Given the description of an element on the screen output the (x, y) to click on. 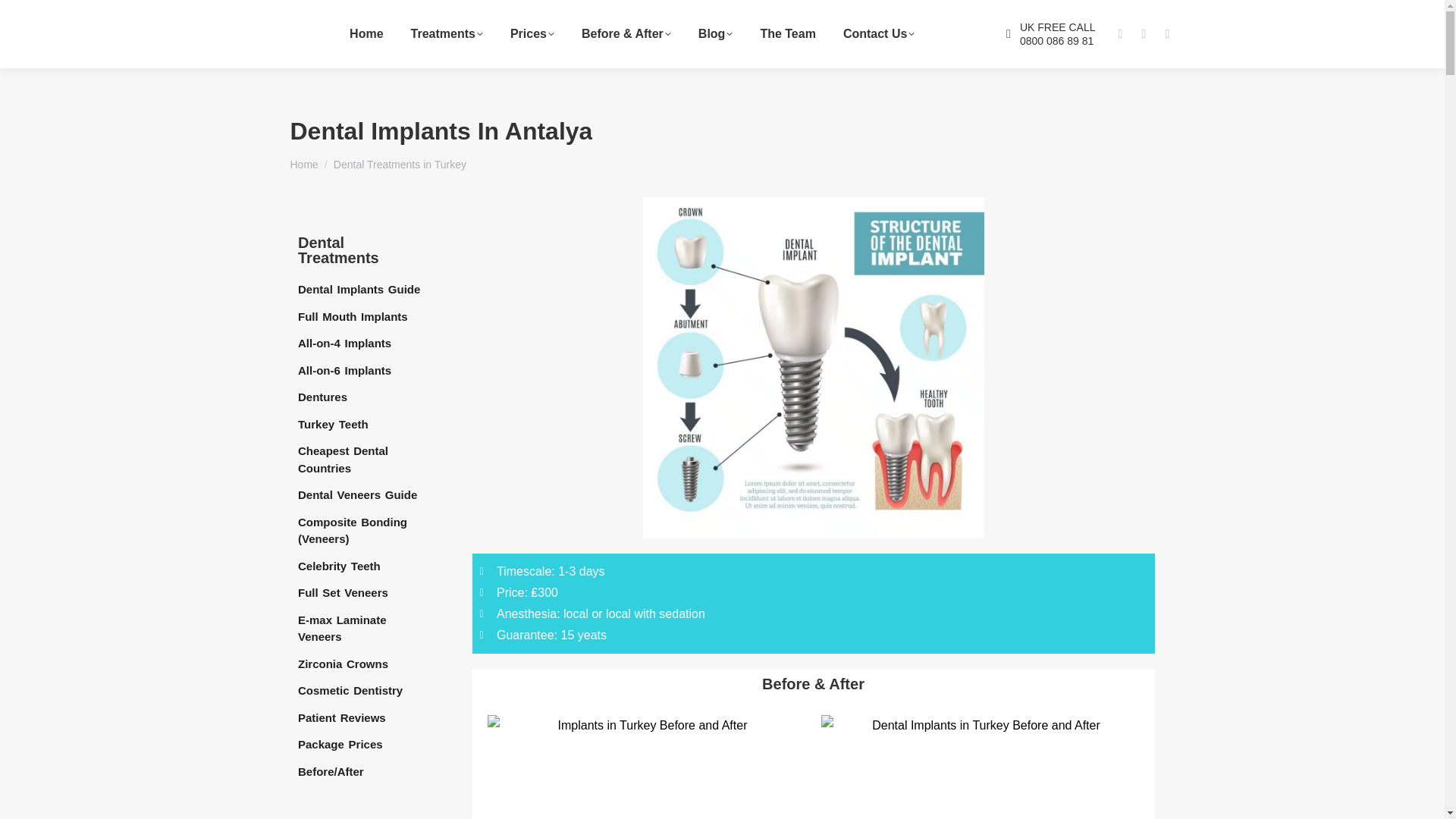
Prices (531, 33)
Dental Treatments in Turkey (399, 164)
Instagram page opens in new window (1119, 34)
Facebook page opens in new window (1144, 34)
Treatments (446, 33)
Home (303, 164)
YouTube page opens in new window (1166, 34)
Home (365, 33)
